Given the description of an element on the screen output the (x, y) to click on. 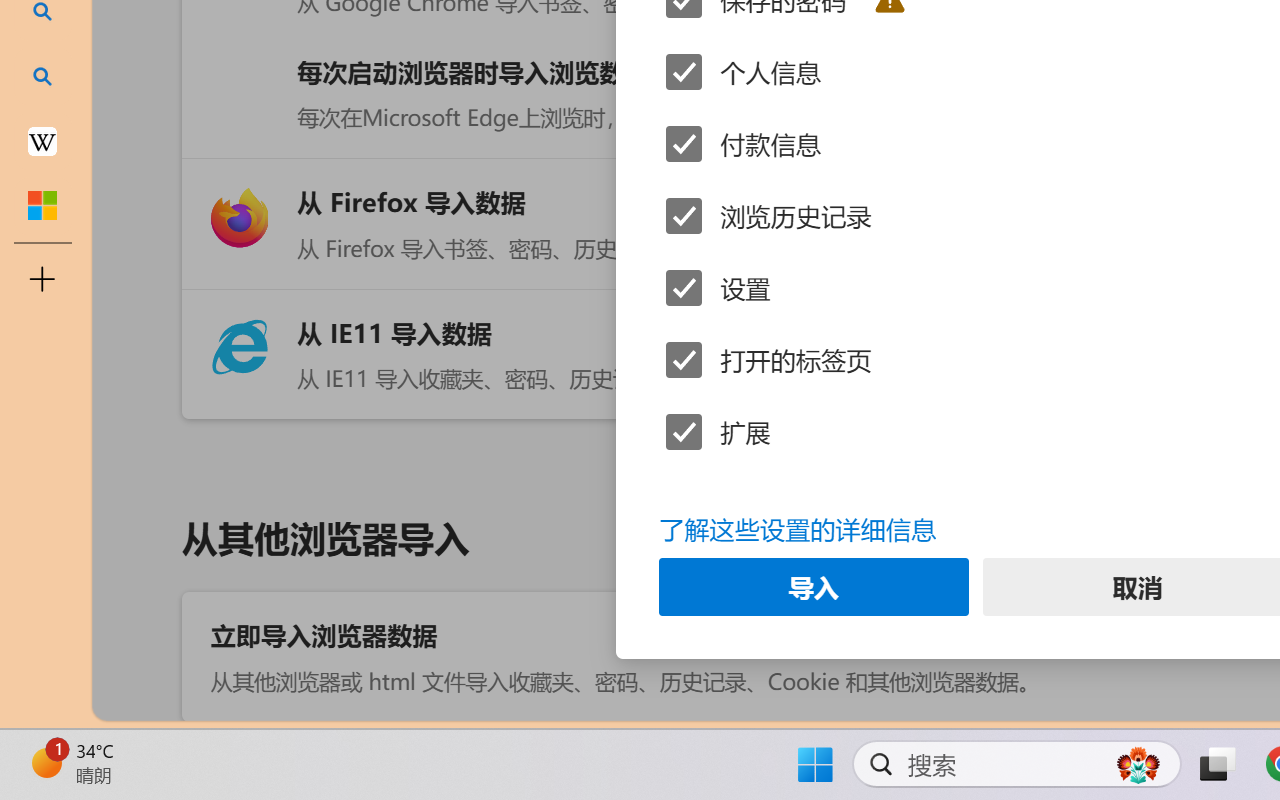
Earth - Wikipedia (42, 140)
